Given the description of an element on the screen output the (x, y) to click on. 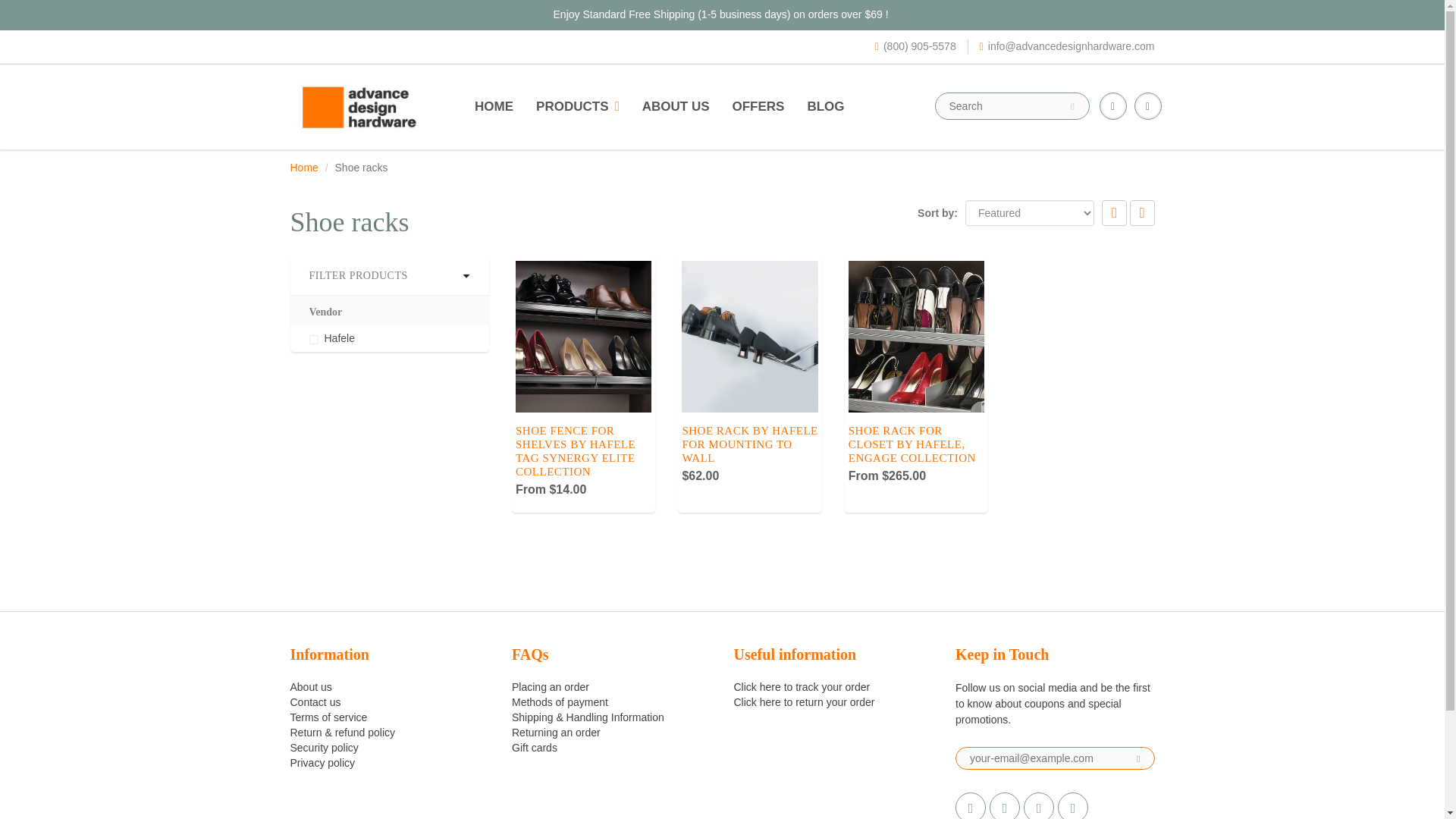
PRODUCTS (577, 106)
List View (1141, 212)
Home (303, 167)
Facebook (1005, 805)
Twitter (970, 805)
Grid view (1114, 212)
Instagram (1072, 805)
Pinterest (1038, 805)
